Given the description of an element on the screen output the (x, y) to click on. 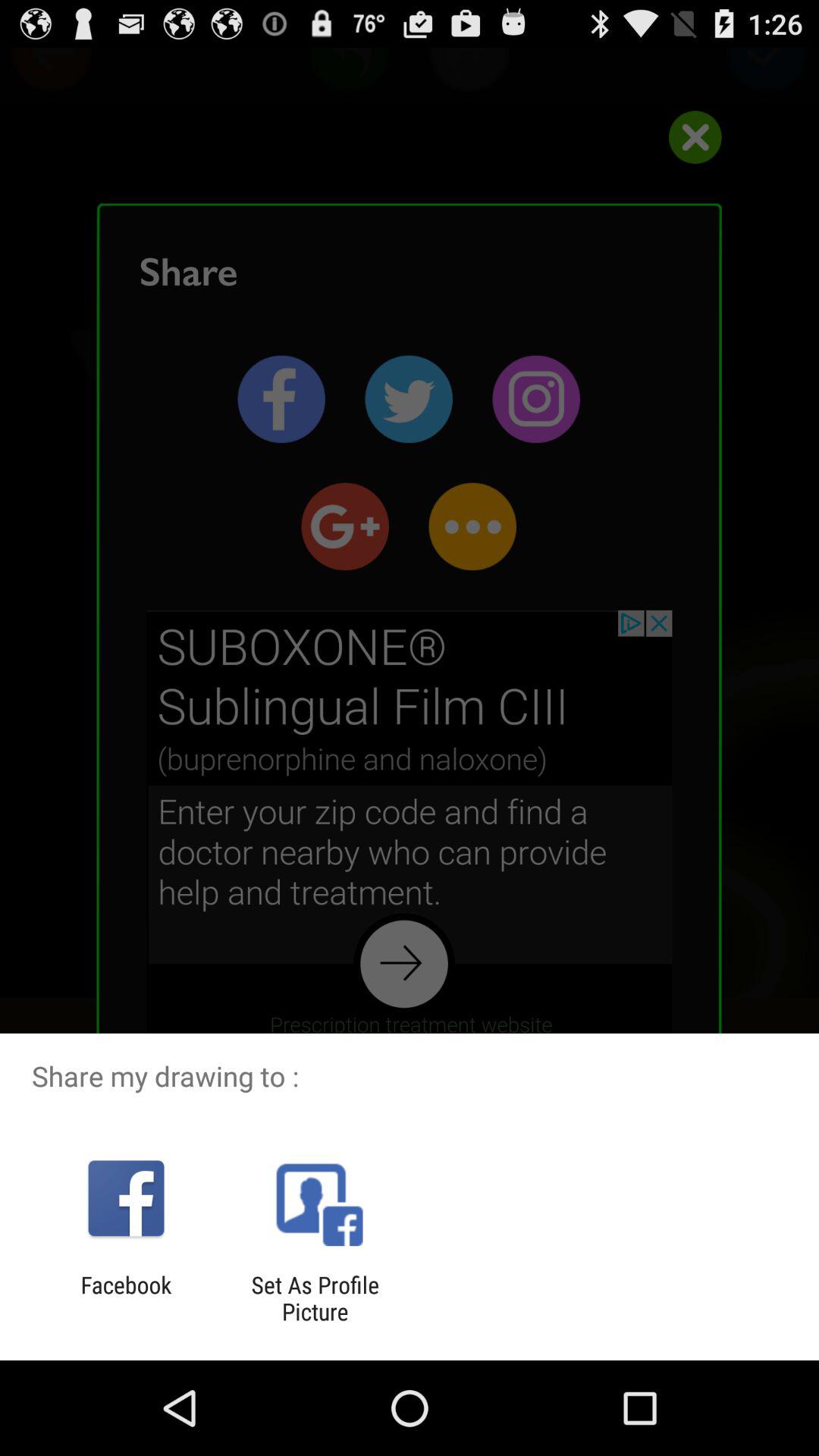
choose the icon to the right of the facebook item (314, 1298)
